Given the description of an element on the screen output the (x, y) to click on. 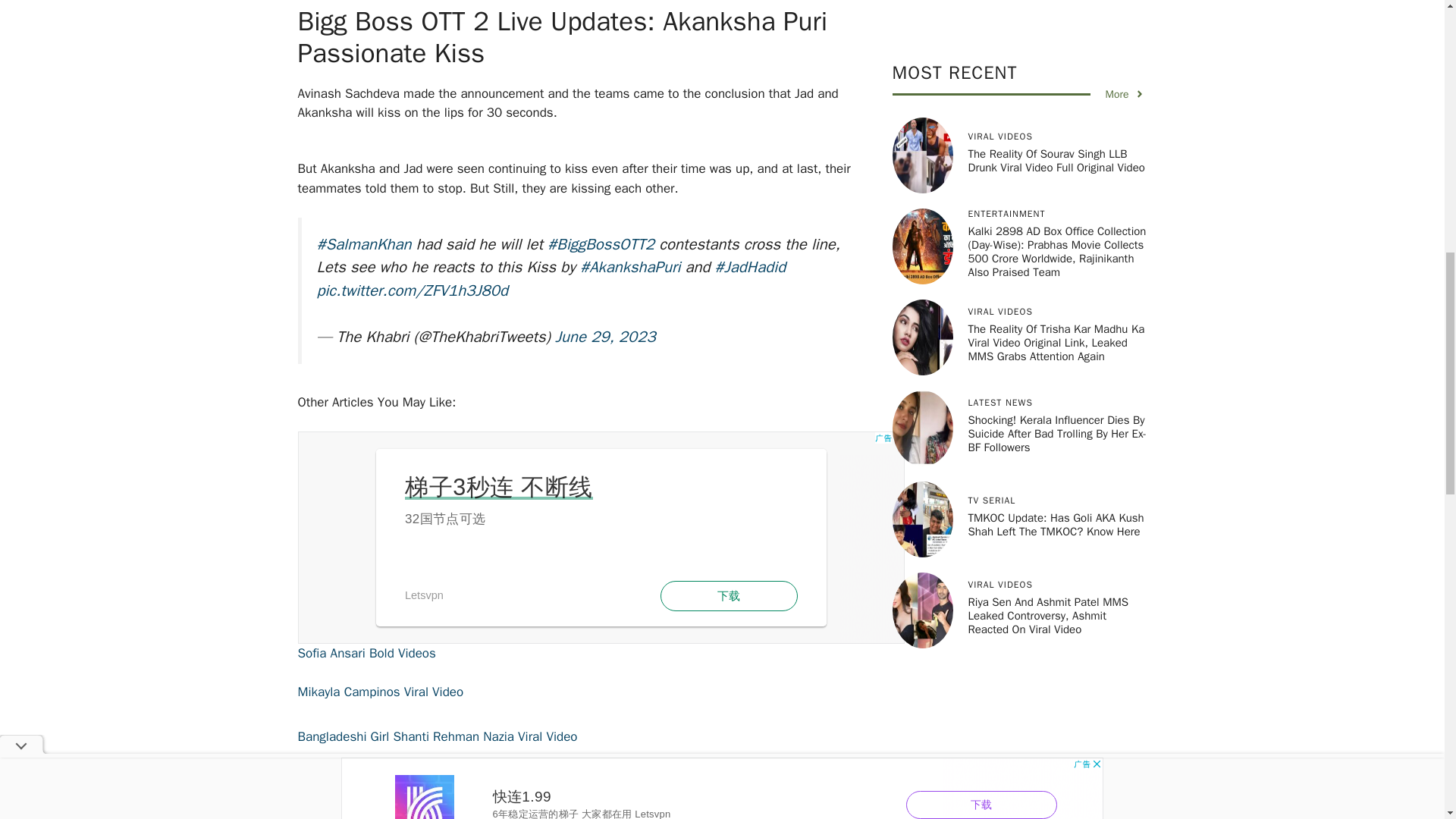
Mikayla Campinos Viral Video (380, 691)
Swiffer Girl Danielle Miller Viral Video (401, 812)
June 29, 2023 (605, 336)
Bangladeshi Girl Shanti Rehman Nazia Viral Video (436, 736)
Advertisement (600, 537)
Sofia Ansari Bold Videos (366, 652)
Reality Of Aayushi Verma Leaked MMS (406, 774)
